Given the description of an element on the screen output the (x, y) to click on. 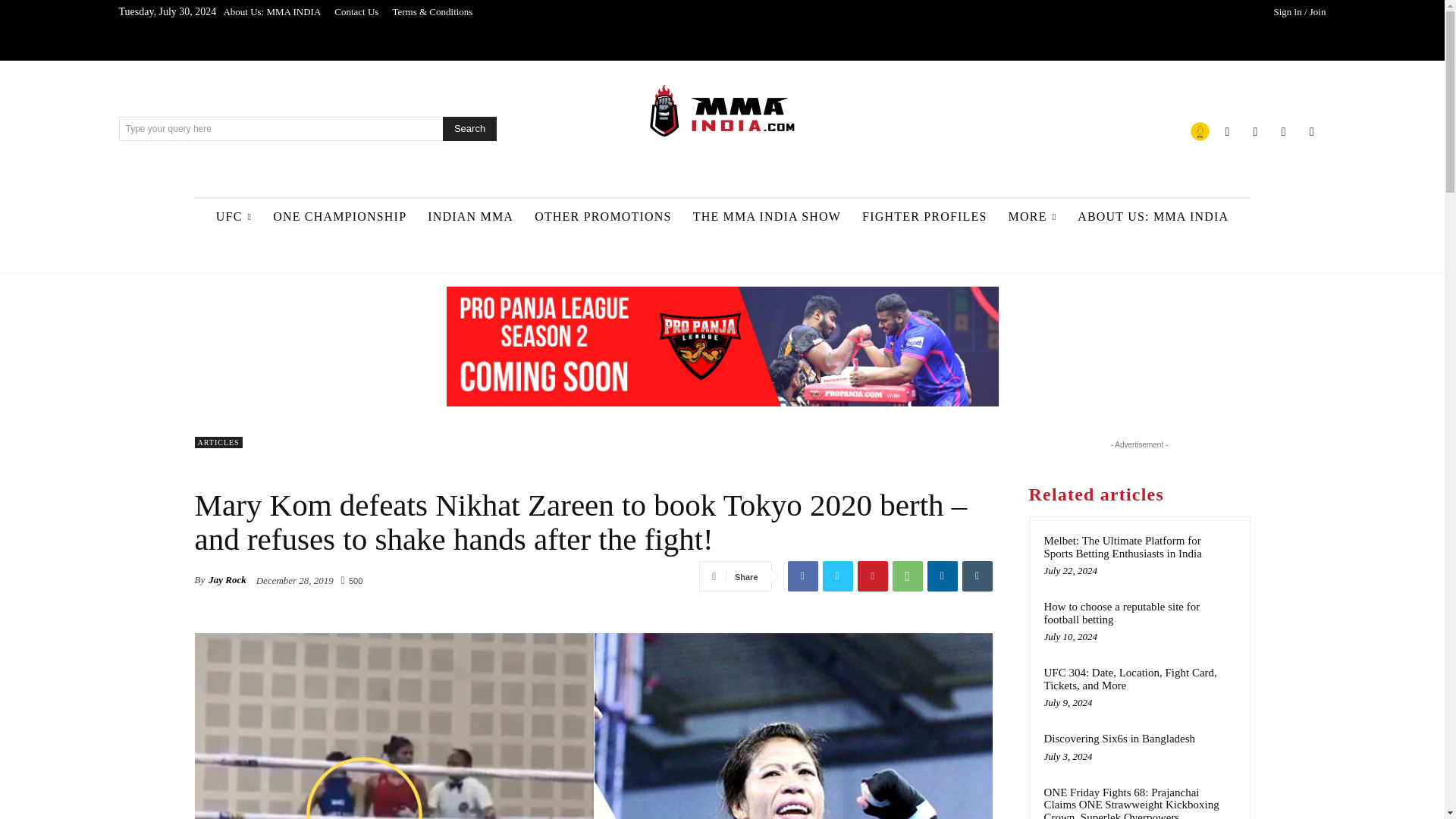
About Us: MMA INDIA (271, 12)
Youtube (1311, 131)
Twitter (1283, 131)
UFC (233, 217)
Contact Us (356, 12)
Behance (1199, 131)
Instagram (1254, 131)
Facebook (1227, 131)
Search (469, 128)
